Given the description of an element on the screen output the (x, y) to click on. 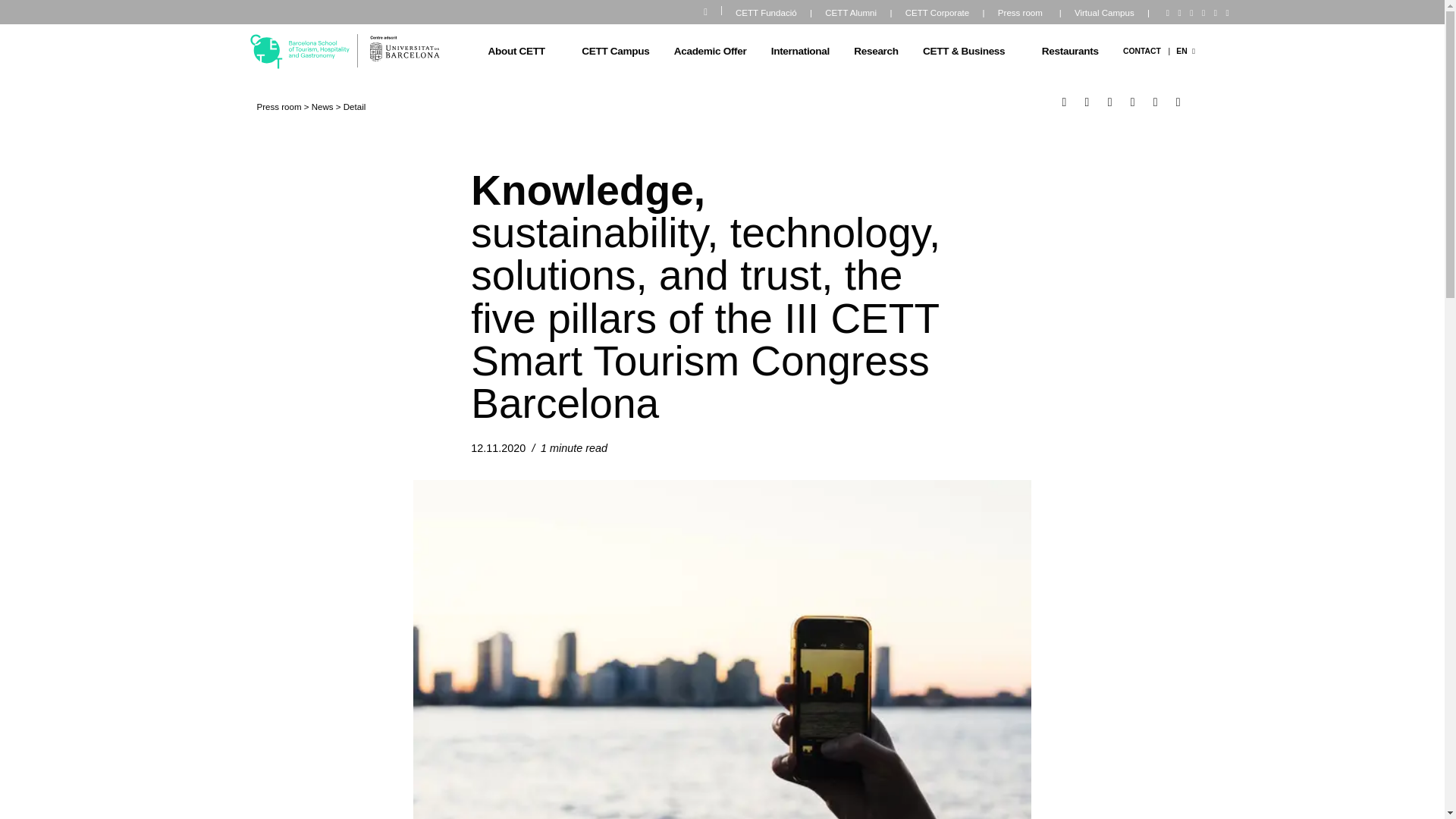
CETT Corporate (936, 13)
Press room (1021, 13)
CETT Alumni (850, 13)
Universidad de Barcelona (404, 49)
Academic Offer (710, 51)
Search (712, 9)
About CETT (528, 51)
Grup CETT (299, 51)
Virtual Campus (1104, 13)
